Given the description of an element on the screen output the (x, y) to click on. 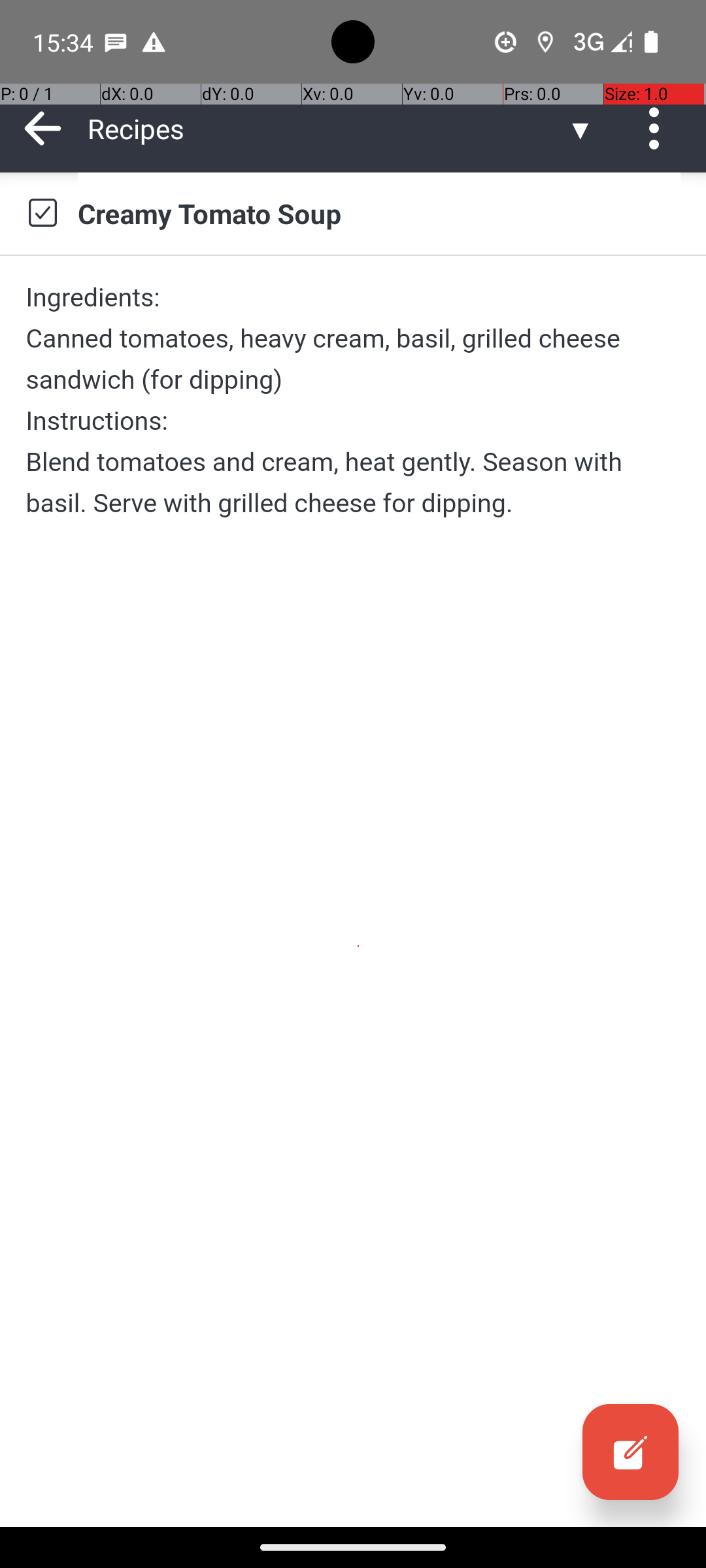
Creamy Tomato Soup Element type: android.widget.EditText (378, 213)
Edit, collapsed Element type: android.widget.Button (630, 1452)
Recipes Element type: android.widget.TextView (326, 128)
 Element type: android.widget.TextView (42, 212)
 Element type: android.widget.TextView (630, 1451)
Ingredients:
Canned tomatoes, heavy cream, basil, grilled cheese sandwich (for dipping)
Instructions:
Blend tomatoes and cream, heat gently. Season with basil. Serve with grilled cheese for dipping. Element type: android.widget.TextView (352, 399)
